Given the description of an element on the screen output the (x, y) to click on. 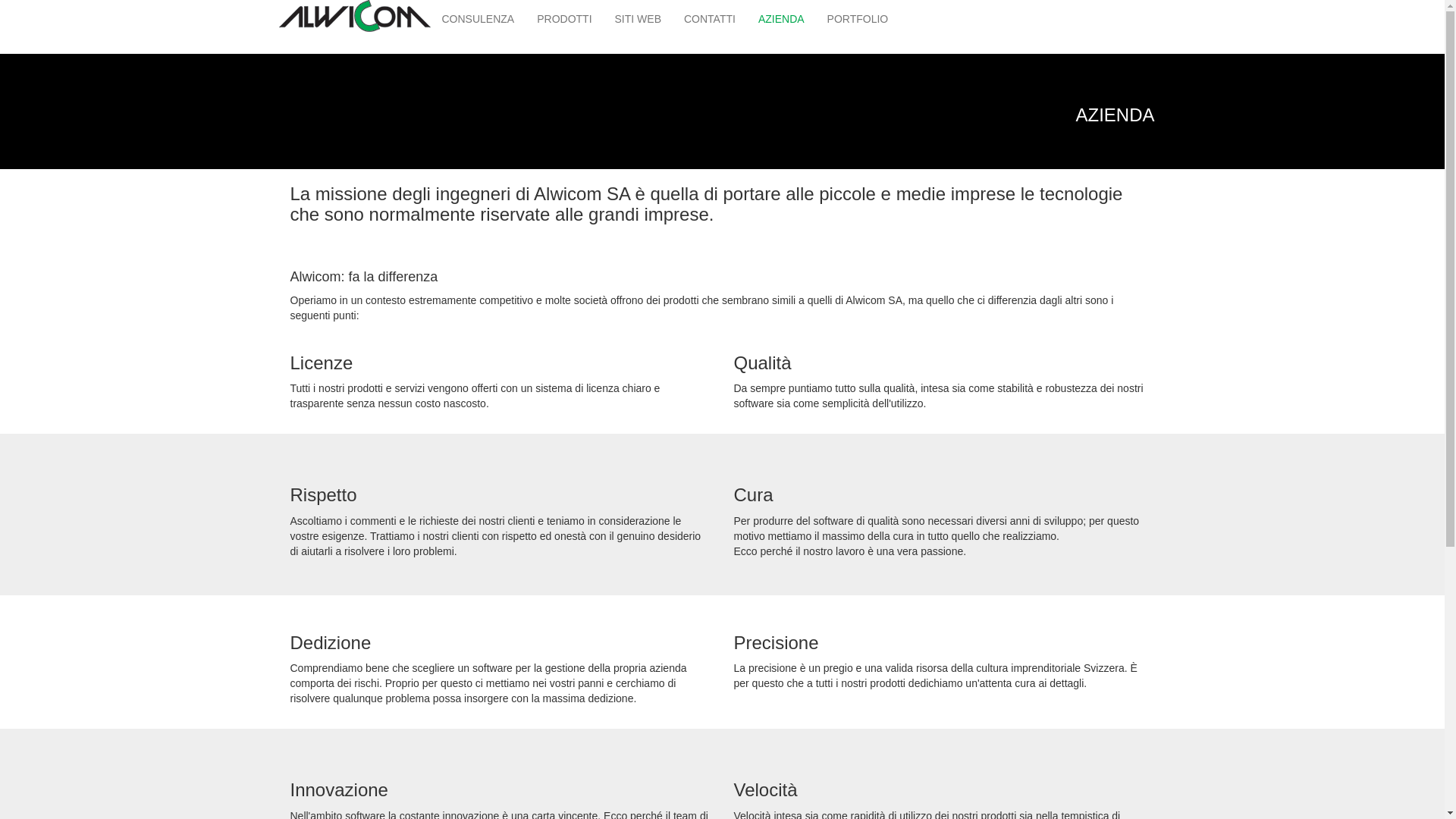
AZIENDA Element type: text (780, 18)
PRODOTTI Element type: text (563, 18)
SITI WEB Element type: text (637, 18)
CONSULENZA Element type: text (478, 18)
CONTATTI Element type: text (709, 18)
PORTFOLIO Element type: text (857, 18)
